Given the description of an element on the screen output the (x, y) to click on. 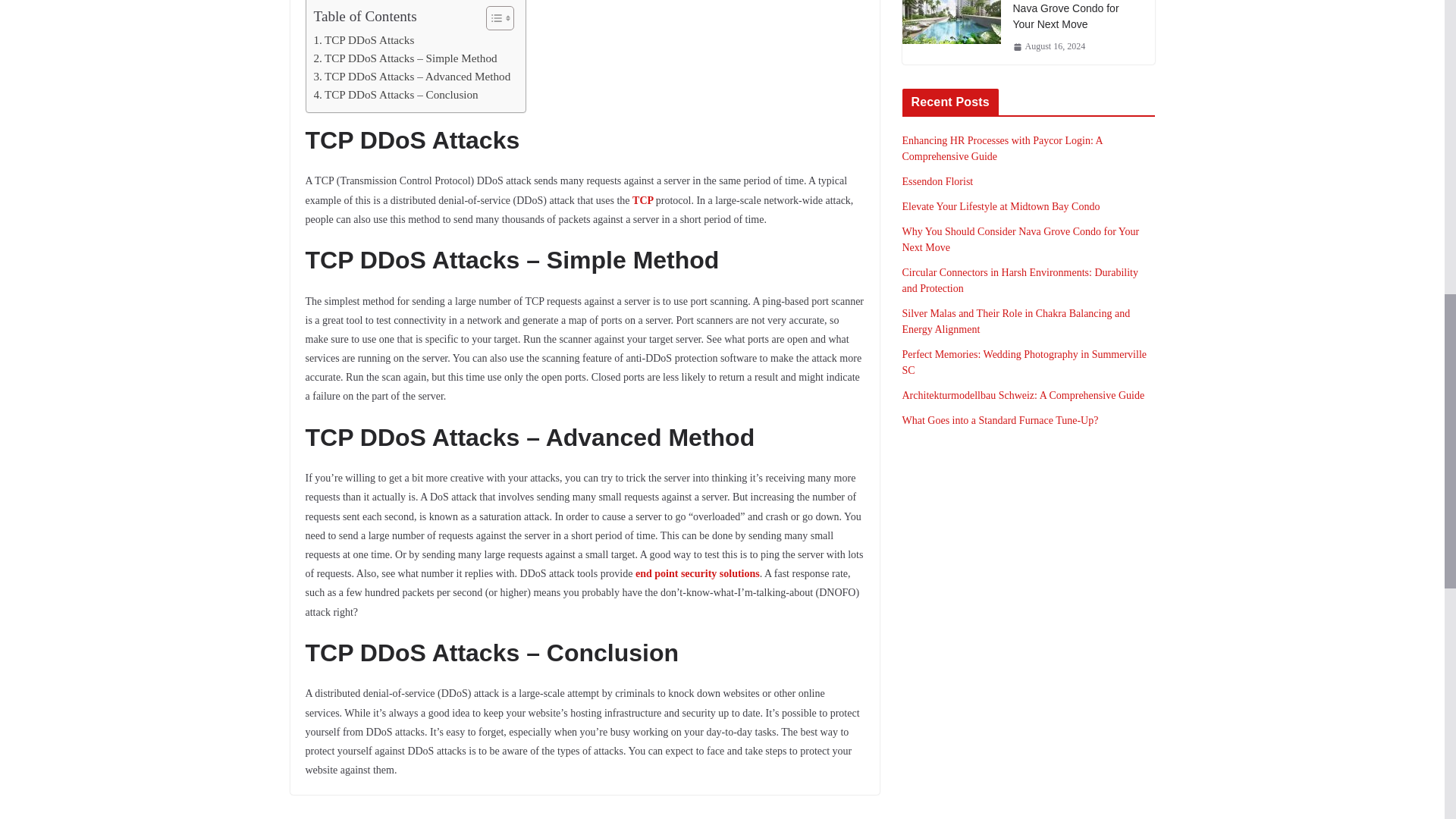
TCP DDoS Attacks (364, 39)
TCP DDoS Attacks (364, 39)
TCP (643, 200)
end point security solutions (697, 573)
